Given the description of an element on the screen output the (x, y) to click on. 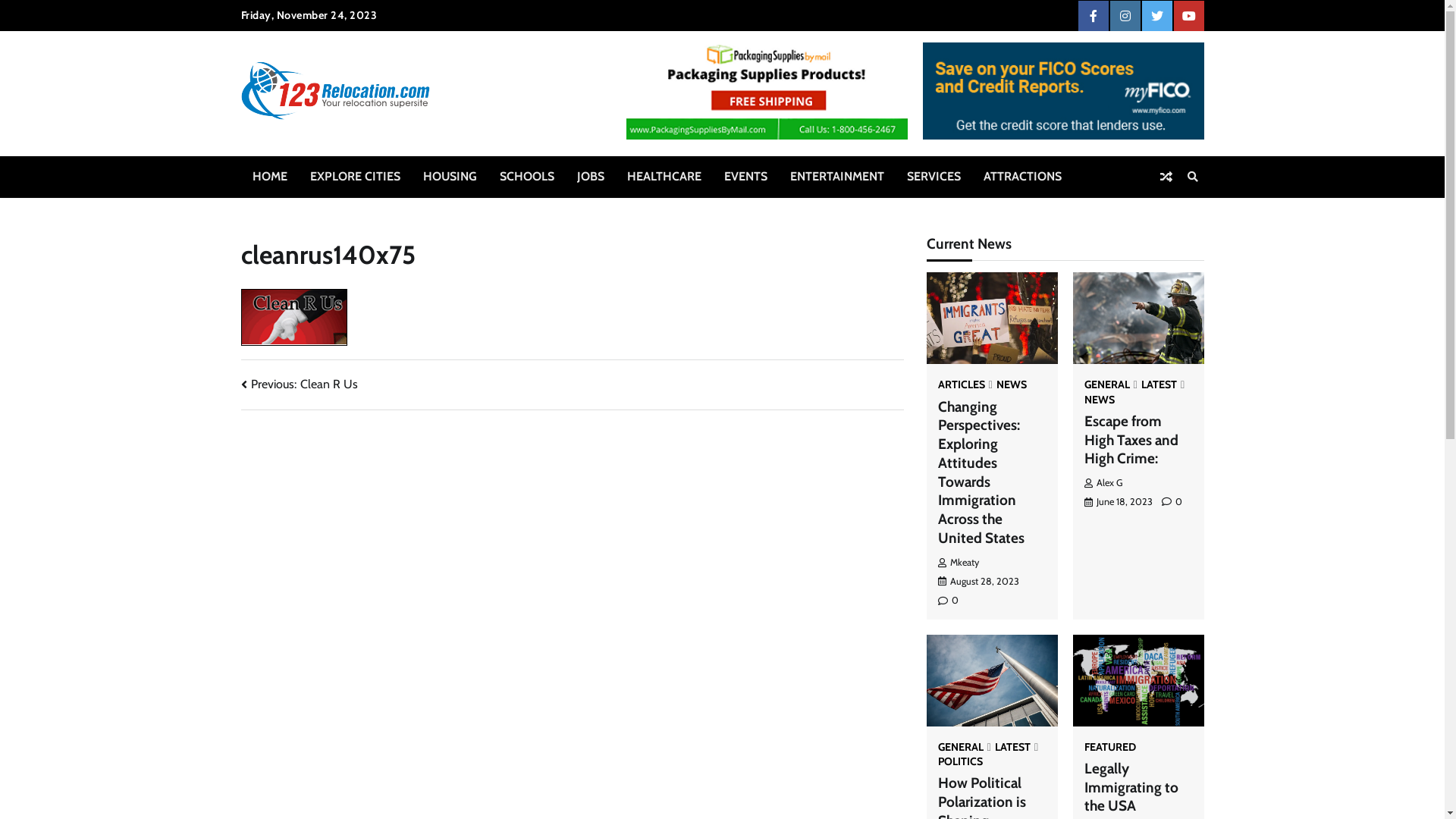
ATTRACTIONS Element type: text (1022, 176)
facebook Element type: text (1093, 15)
SCHOOLS Element type: text (526, 176)
GENERAL Element type: text (1110, 384)
JOBS Element type: text (590, 176)
LATEST Element type: text (1016, 746)
Alex G Element type: text (1103, 482)
Search Element type: text (1164, 211)
HEALTHCARE Element type: text (663, 176)
HOUSING Element type: text (449, 176)
LATEST Element type: text (1162, 384)
twitter Element type: text (1157, 15)
Legally Immigrating to the USA Element type: text (1131, 787)
EXPLORE CITIES Element type: text (354, 176)
Search Element type: hover (1192, 176)
Escape from High Taxes and High Crime: Element type: text (1131, 439)
POLITICS Element type: text (959, 761)
NEWS Element type: text (1099, 399)
ENTERTAINMENT Element type: text (836, 176)
ARTICLES Element type: text (964, 384)
NEWS Element type: text (1011, 384)
EVENTS Element type: text (745, 176)
SERVICES Element type: text (932, 176)
instagram Element type: text (1125, 15)
Previous:
Clean R Us Element type: text (299, 384)
GENERAL Element type: text (963, 746)
FEATURED Element type: text (1109, 746)
View Random Post Element type: hover (1165, 176)
youtube Element type: text (1188, 15)
Mkeaty Element type: text (957, 561)
HOME Element type: text (269, 176)
